Given the description of an element on the screen output the (x, y) to click on. 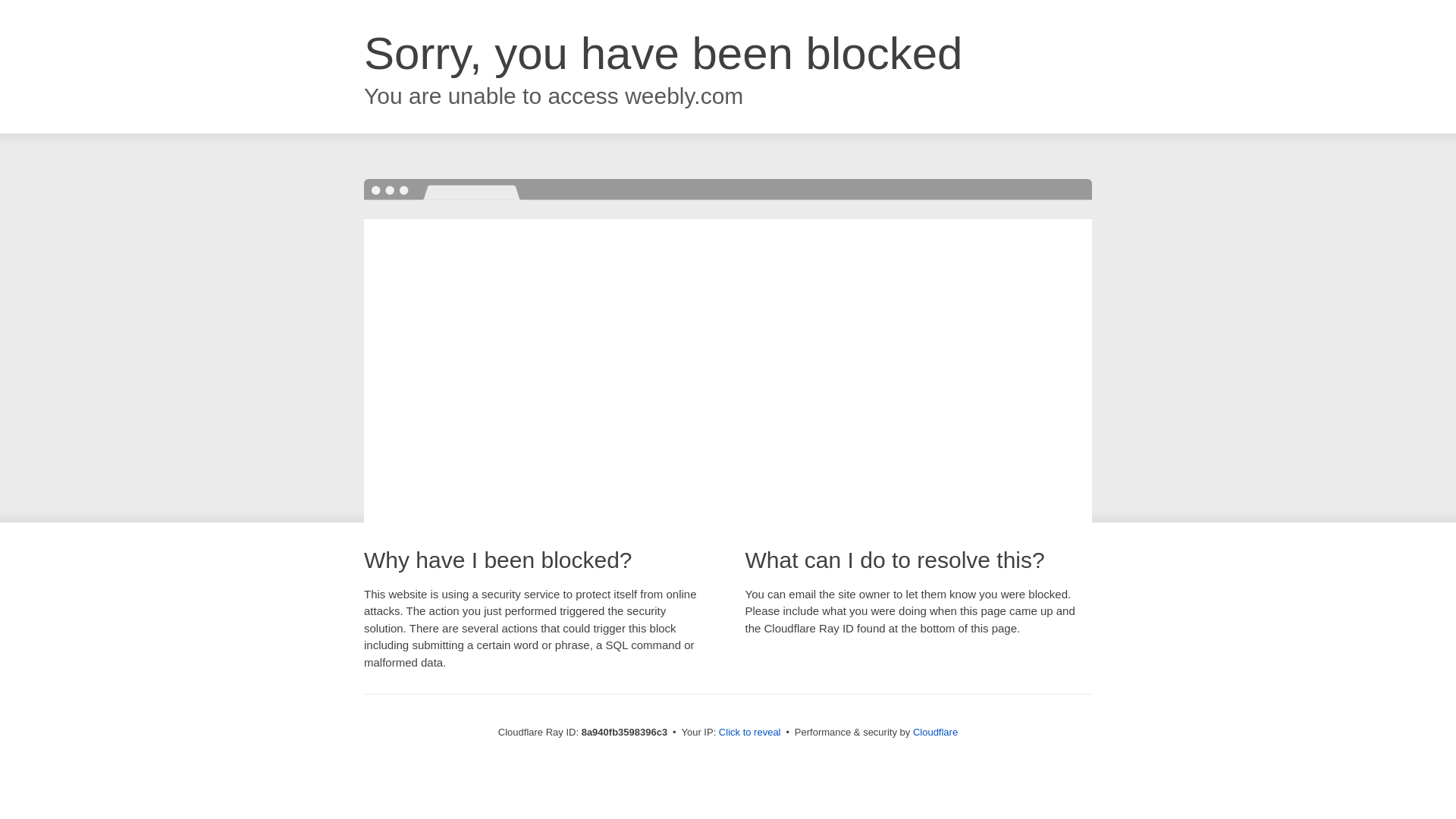
Click to reveal (749, 732)
Cloudflare (935, 731)
